Given the description of an element on the screen output the (x, y) to click on. 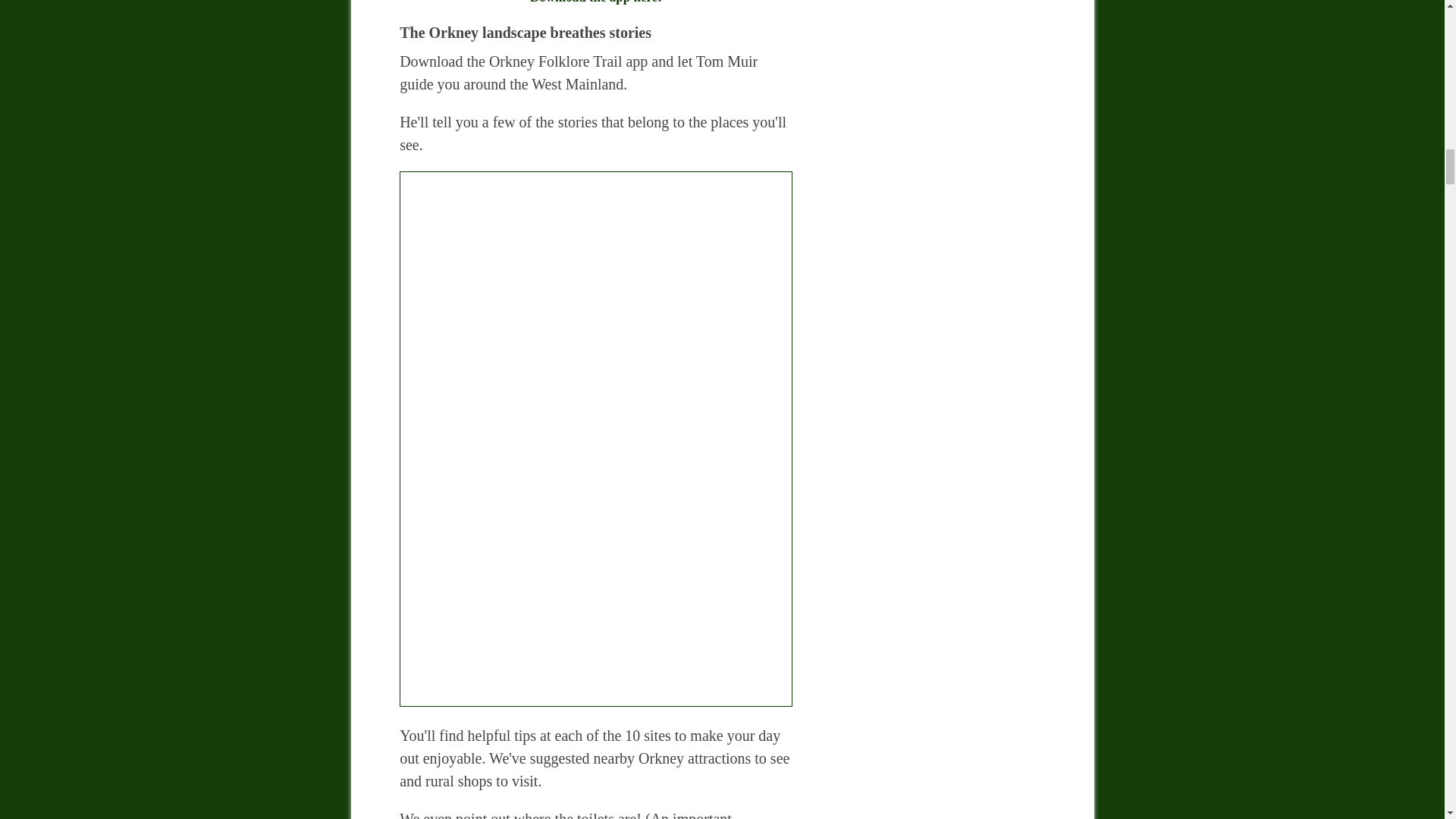
Download the app here! (595, 3)
